Given the description of an element on the screen output the (x, y) to click on. 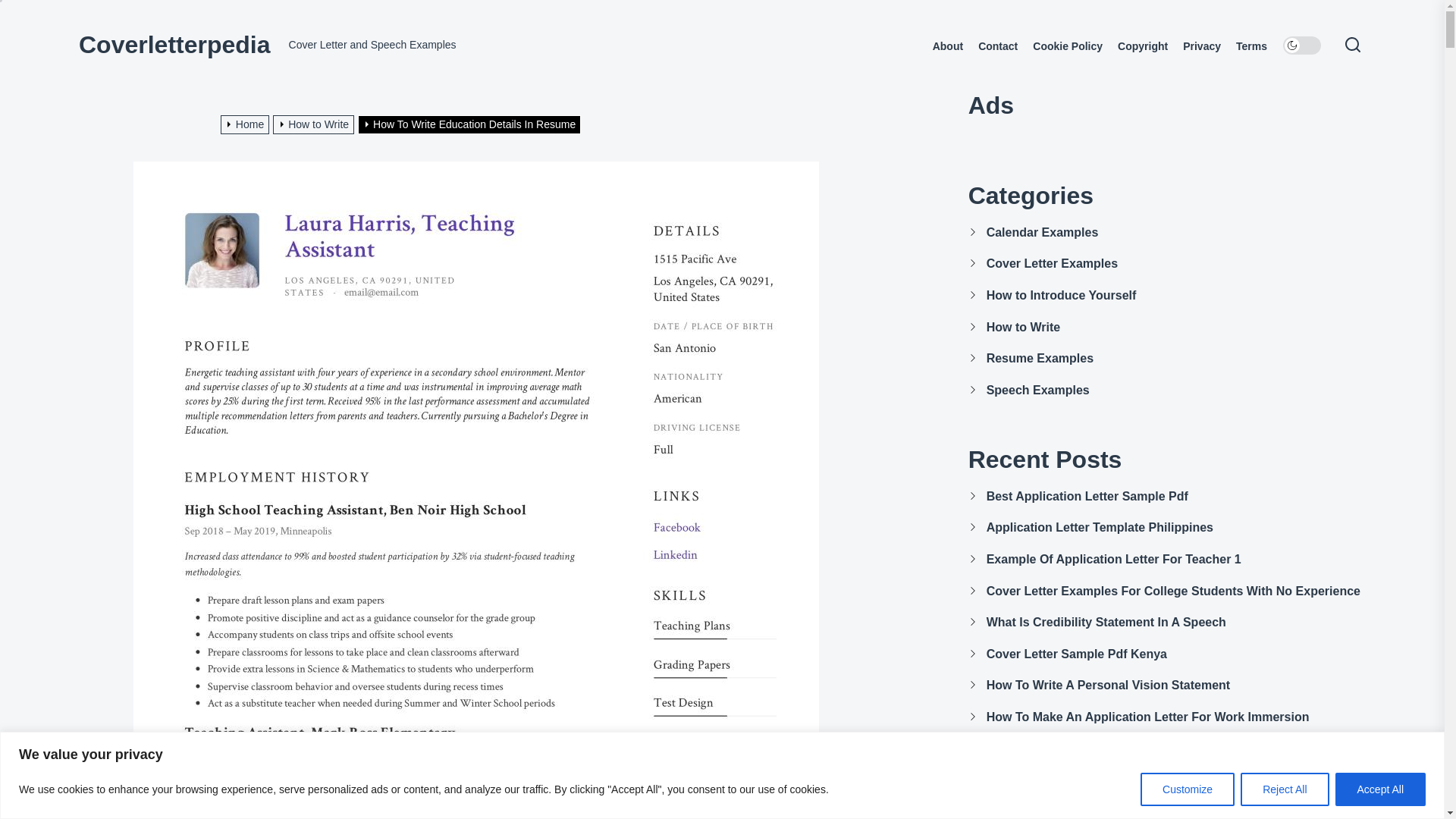
Customize (1187, 788)
Contact (997, 46)
How to Write (315, 123)
Cookie Policy (1067, 46)
How To Write Education Details In Resume (471, 123)
Accept All (1380, 788)
About (947, 46)
Terms (1251, 46)
Reject All (1283, 788)
